Given the description of an element on the screen output the (x, y) to click on. 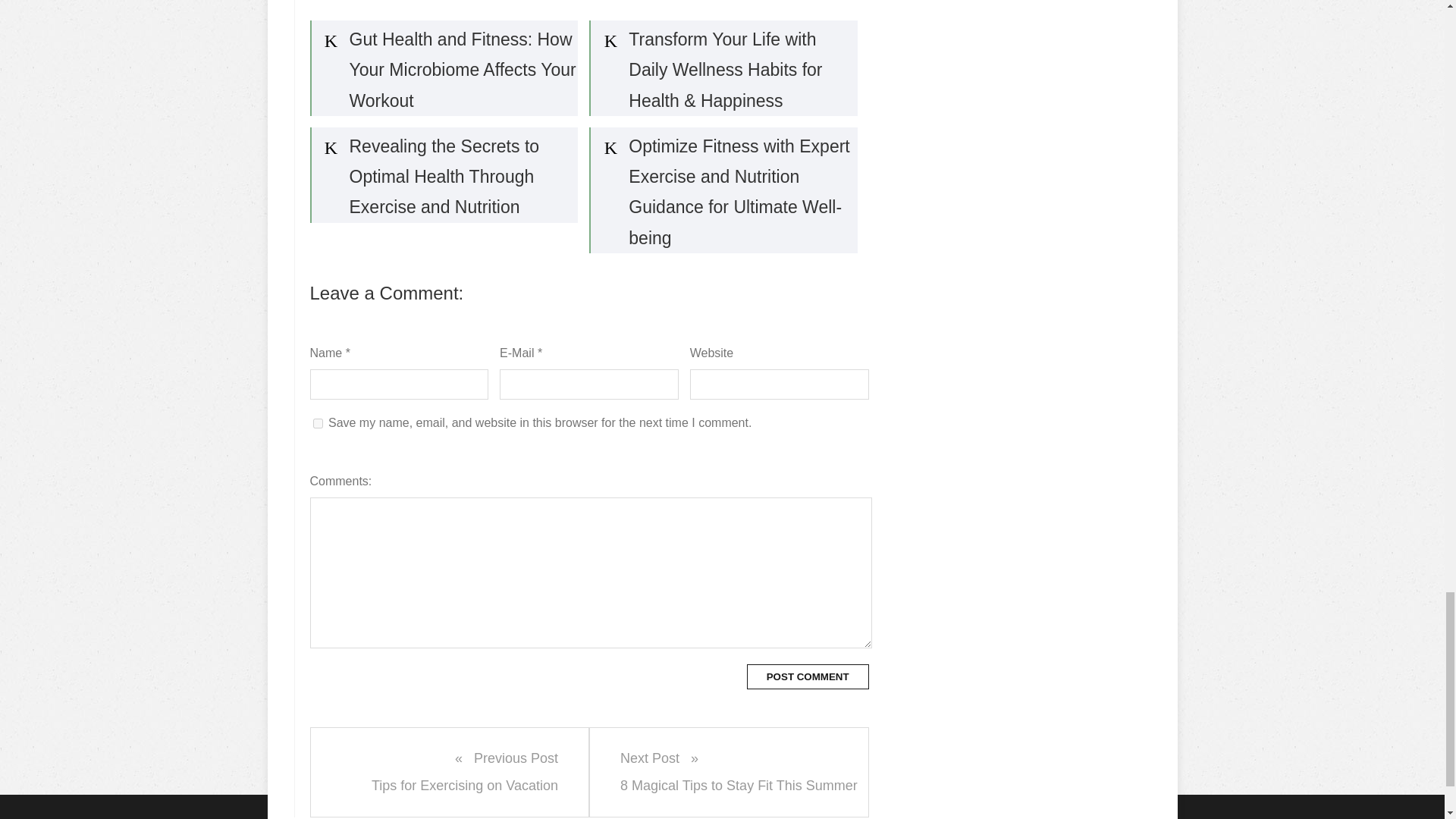
yes (450, 772)
Post Comment (317, 423)
Post Comment (807, 676)
